Given the description of an element on the screen output the (x, y) to click on. 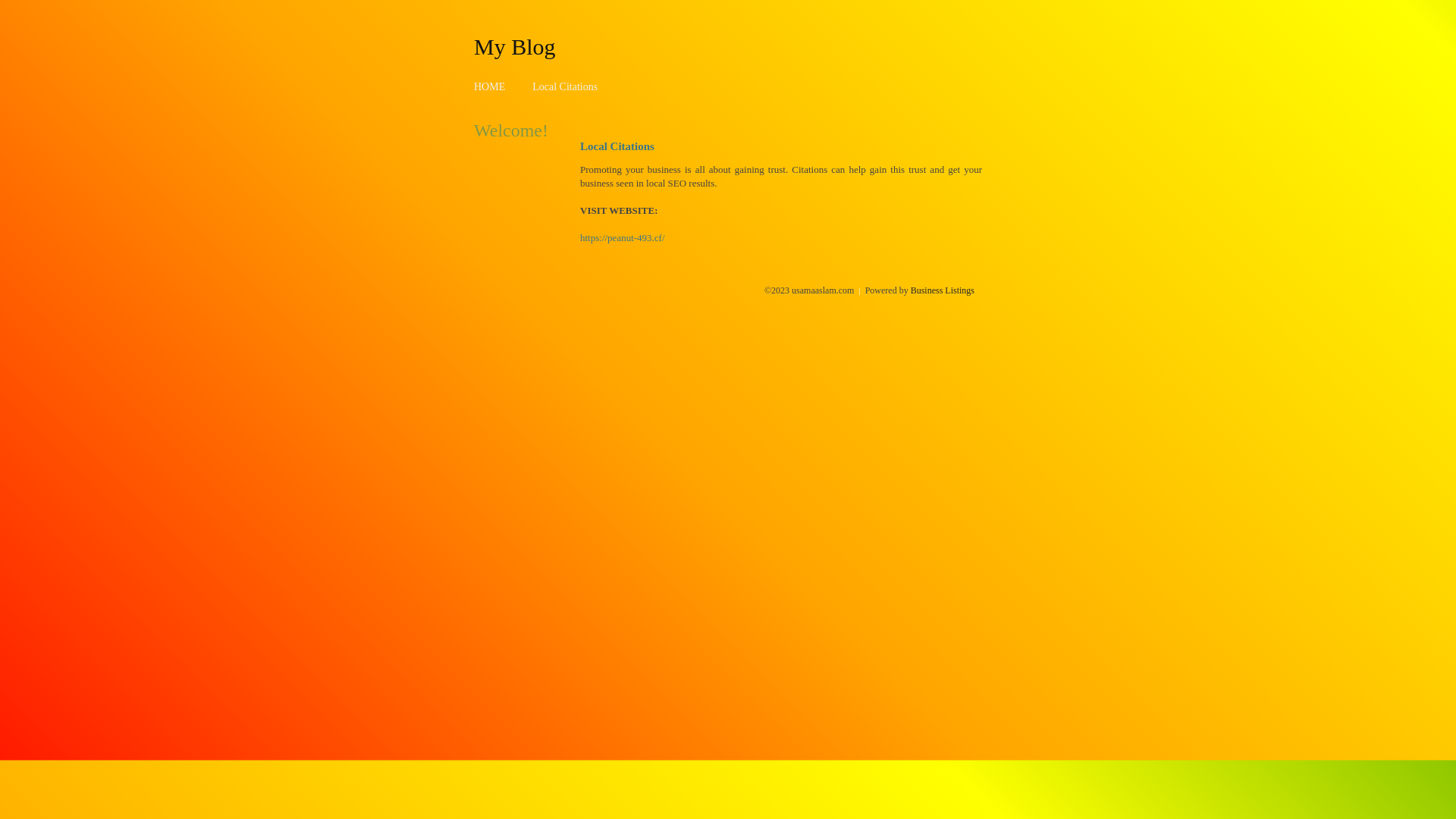
My Blog Element type: text (514, 46)
Local Citations Element type: text (564, 86)
HOME Element type: text (489, 86)
https://peanut-493.cf/ Element type: text (622, 237)
Business Listings Element type: text (942, 290)
